Given the description of an element on the screen output the (x, y) to click on. 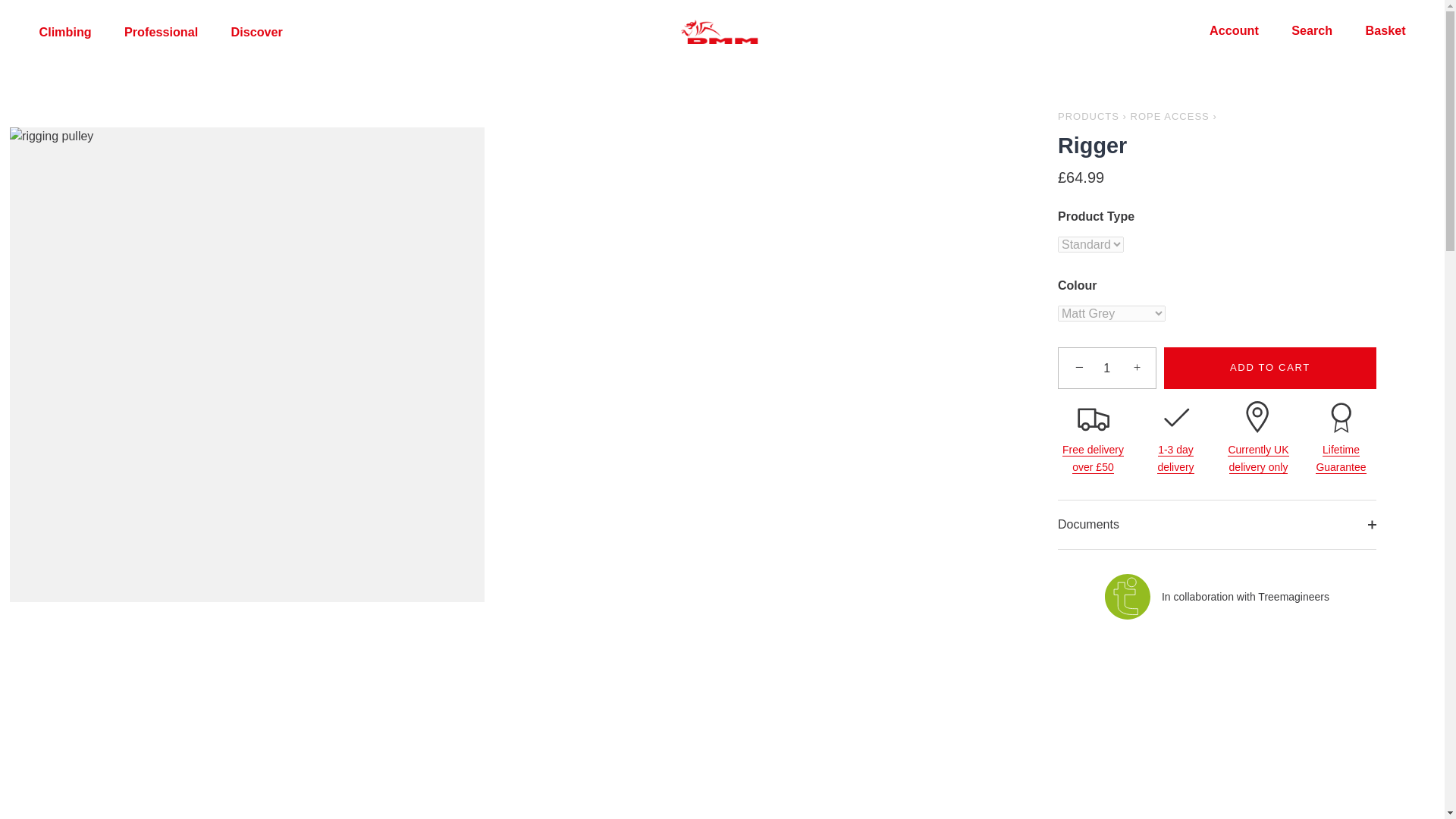
Shipping (1257, 458)
Shipping (1093, 458)
Climbing (65, 31)
Shipping (1175, 458)
Developed with Treemagineers (1127, 596)
Professional (161, 31)
